Given the description of an element on the screen output the (x, y) to click on. 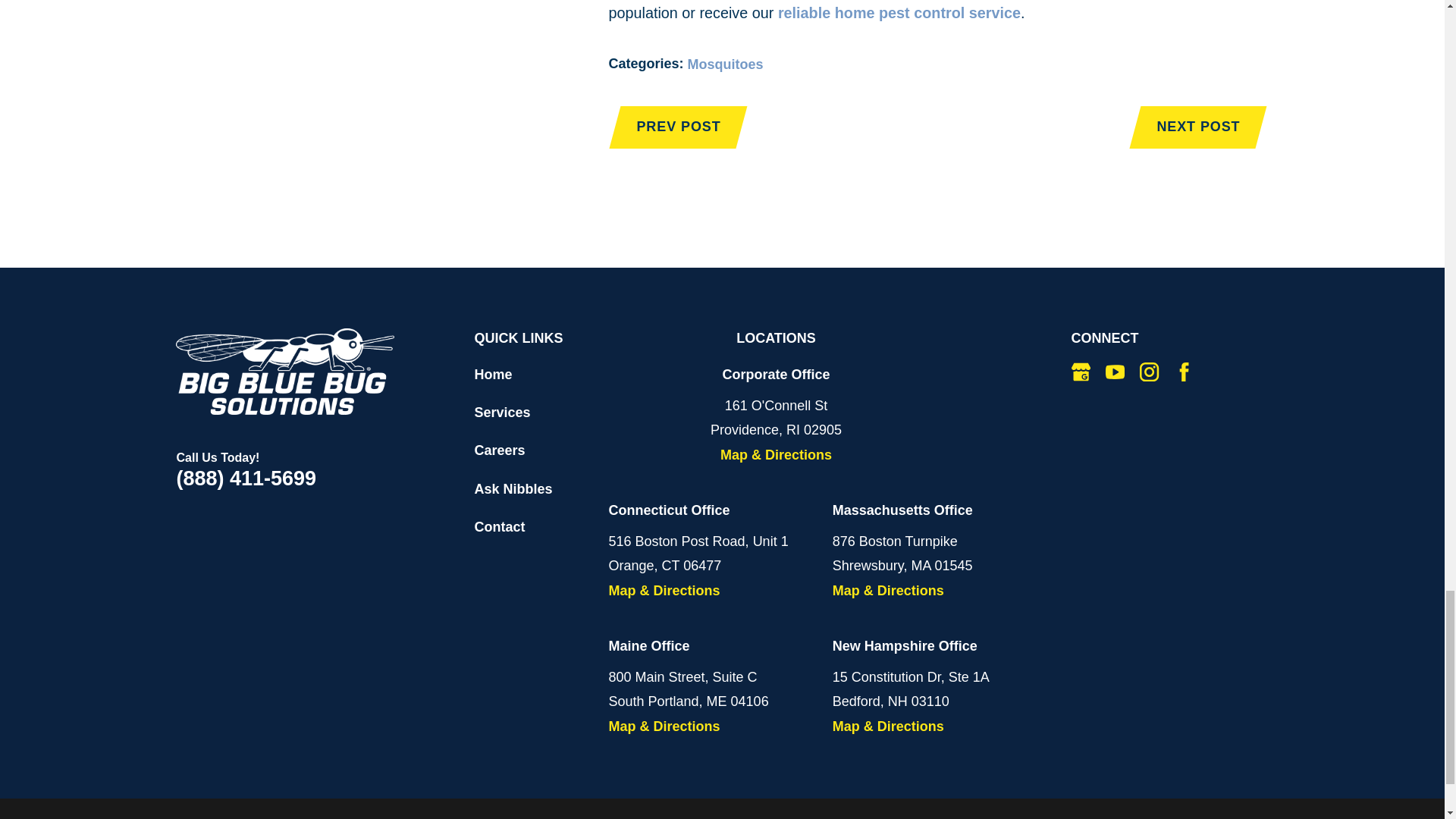
Home (285, 371)
Instagram (1149, 371)
Google Business Profile (1080, 371)
YouTube (1114, 371)
